Given the description of an element on the screen output the (x, y) to click on. 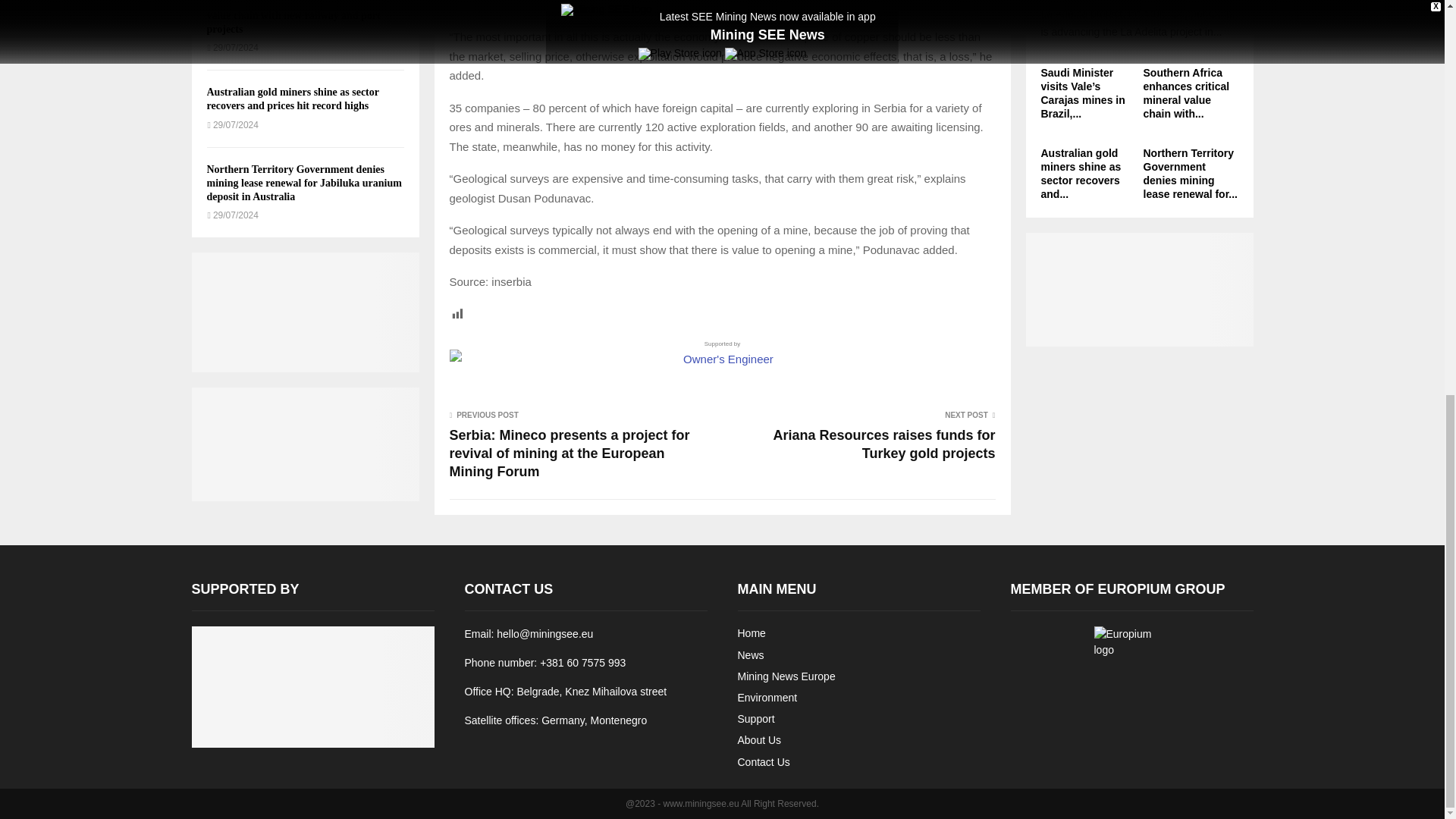
Ariana Resources raises funds for Turkey gold projects (883, 444)
Supported by (721, 353)
